Given the description of an element on the screen output the (x, y) to click on. 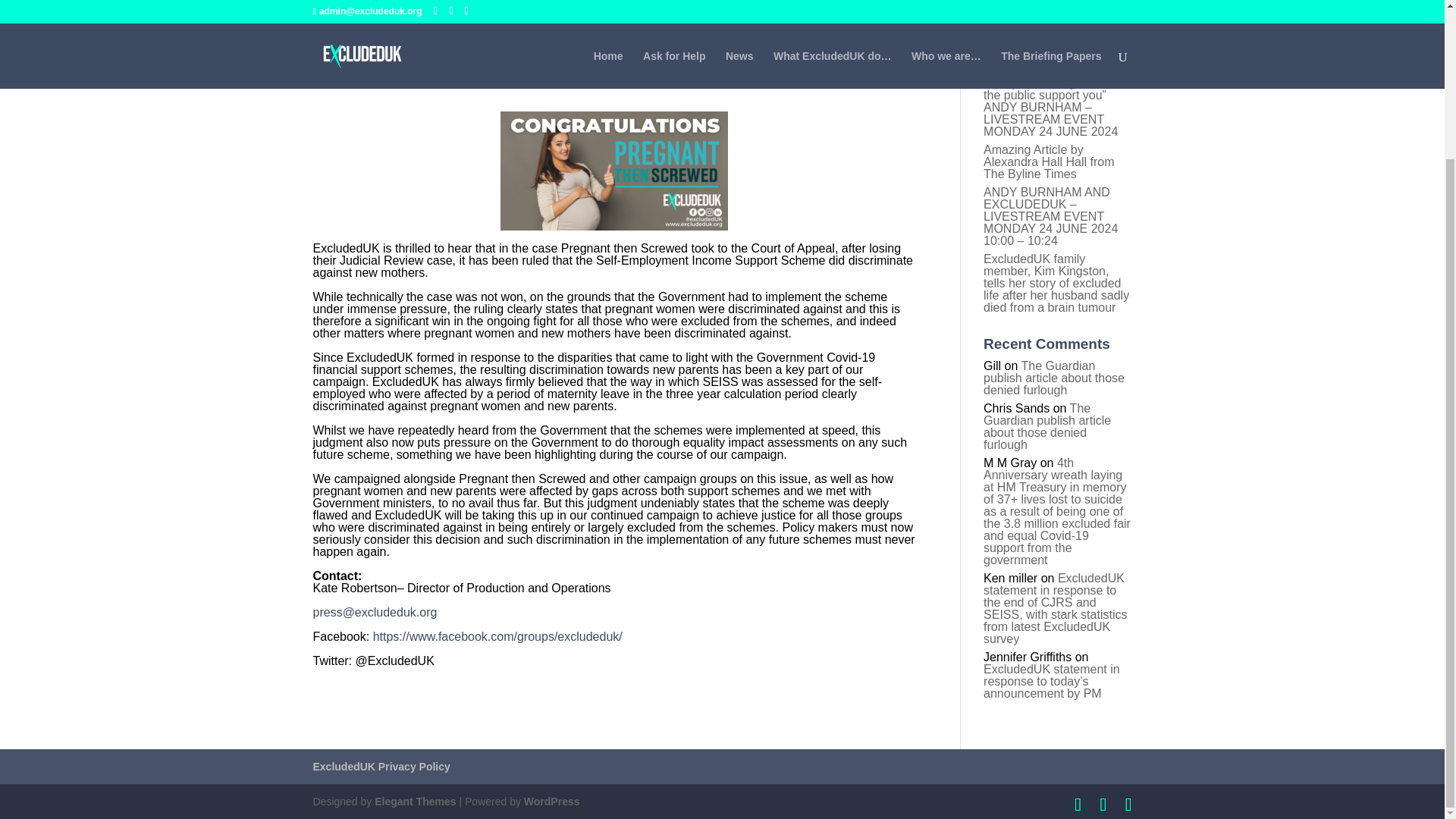
Elegant Themes (414, 801)
Posts by Jennifer Griffiths (365, 66)
Jennifer Griffiths (365, 66)
Amazing Article by Alexandra Hall Hall from The Byline Times (1049, 161)
The Guardian publish article about those denied furlough (1047, 426)
The Guardian publish article about those denied furlough (1054, 377)
Press Releases (521, 66)
Premium WordPress Themes (414, 801)
ExcludedUK Privacy Policy (381, 766)
